Given the description of an element on the screen output the (x, y) to click on. 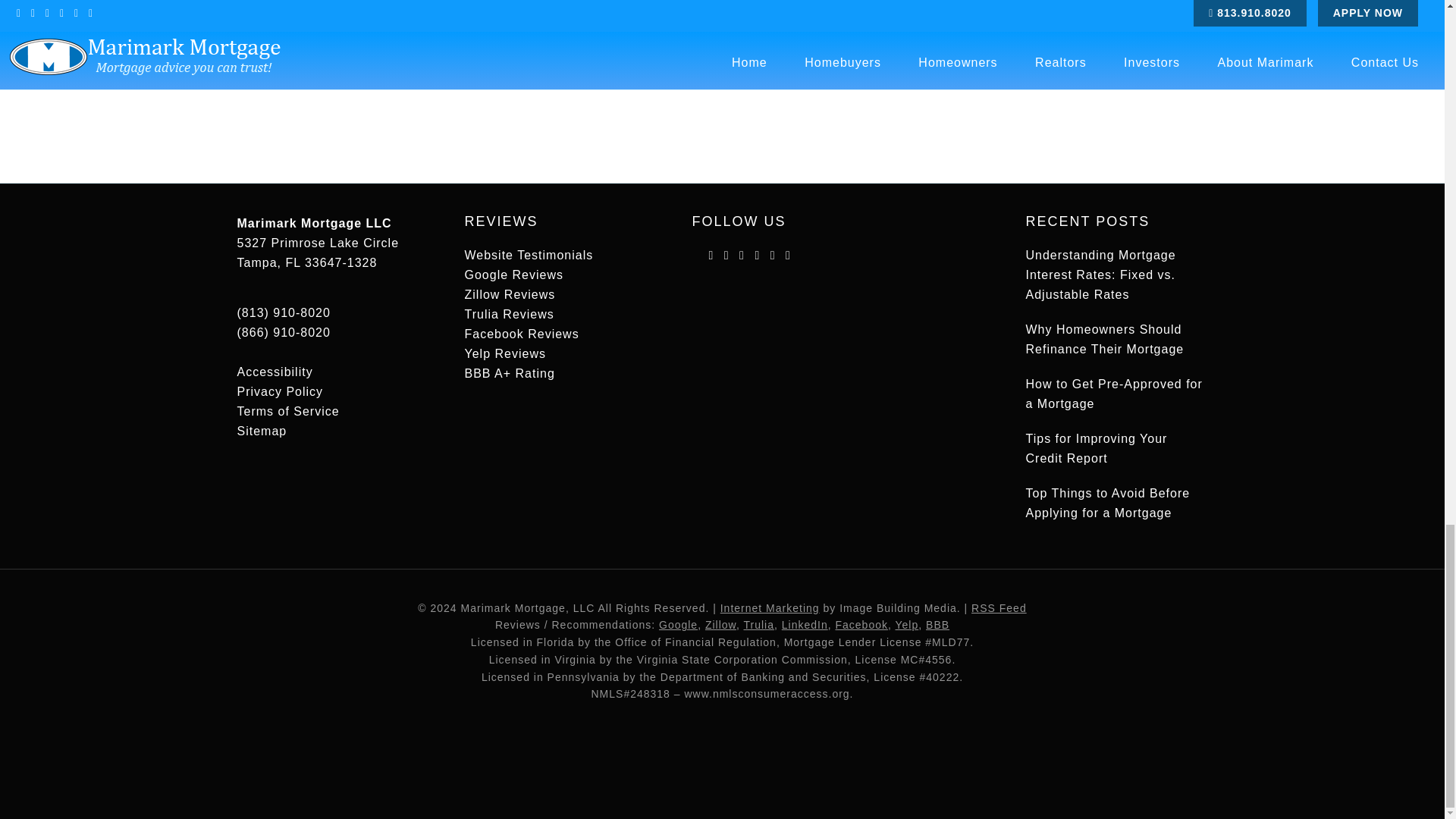
Privacy Policy (279, 391)
Zillow Reviews of Marimark Mortgage (509, 294)
Accessibility (274, 371)
Accessibility (274, 371)
Google Reviews of Marimark Mortgage (513, 274)
Terms of Service (287, 410)
Call Us (282, 332)
Marimark Mortgage LLC (313, 223)
Testimonials (528, 254)
Terms of Service (287, 410)
